Given the description of an element on the screen output the (x, y) to click on. 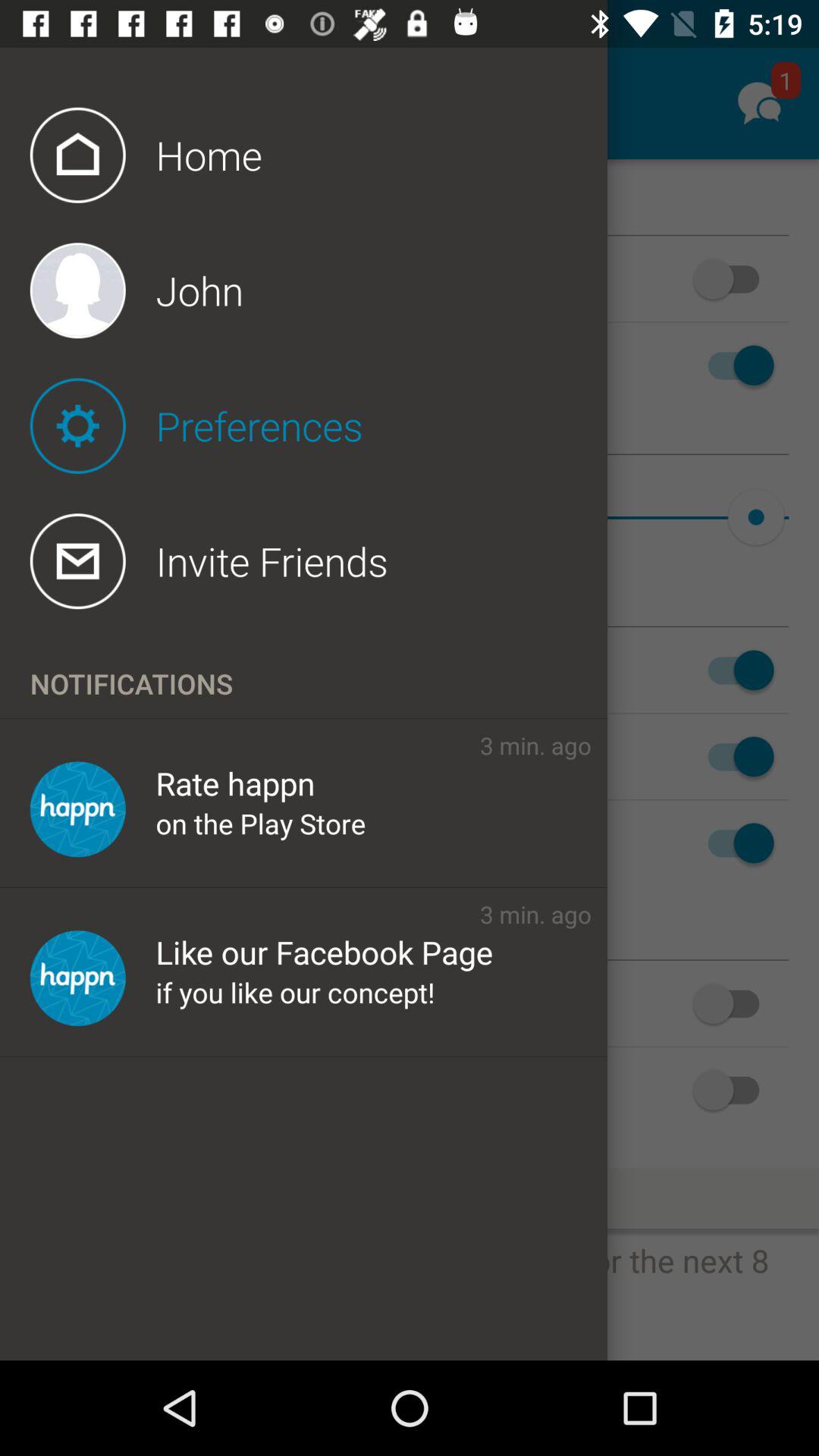
choose the last switch button from the top (733, 1089)
click on the on and off button which is bottom right corner of second one (733, 1003)
select invite friends (318, 560)
click onoff button (733, 278)
go to sixth toggle switch (733, 842)
